Given the description of an element on the screen output the (x, y) to click on. 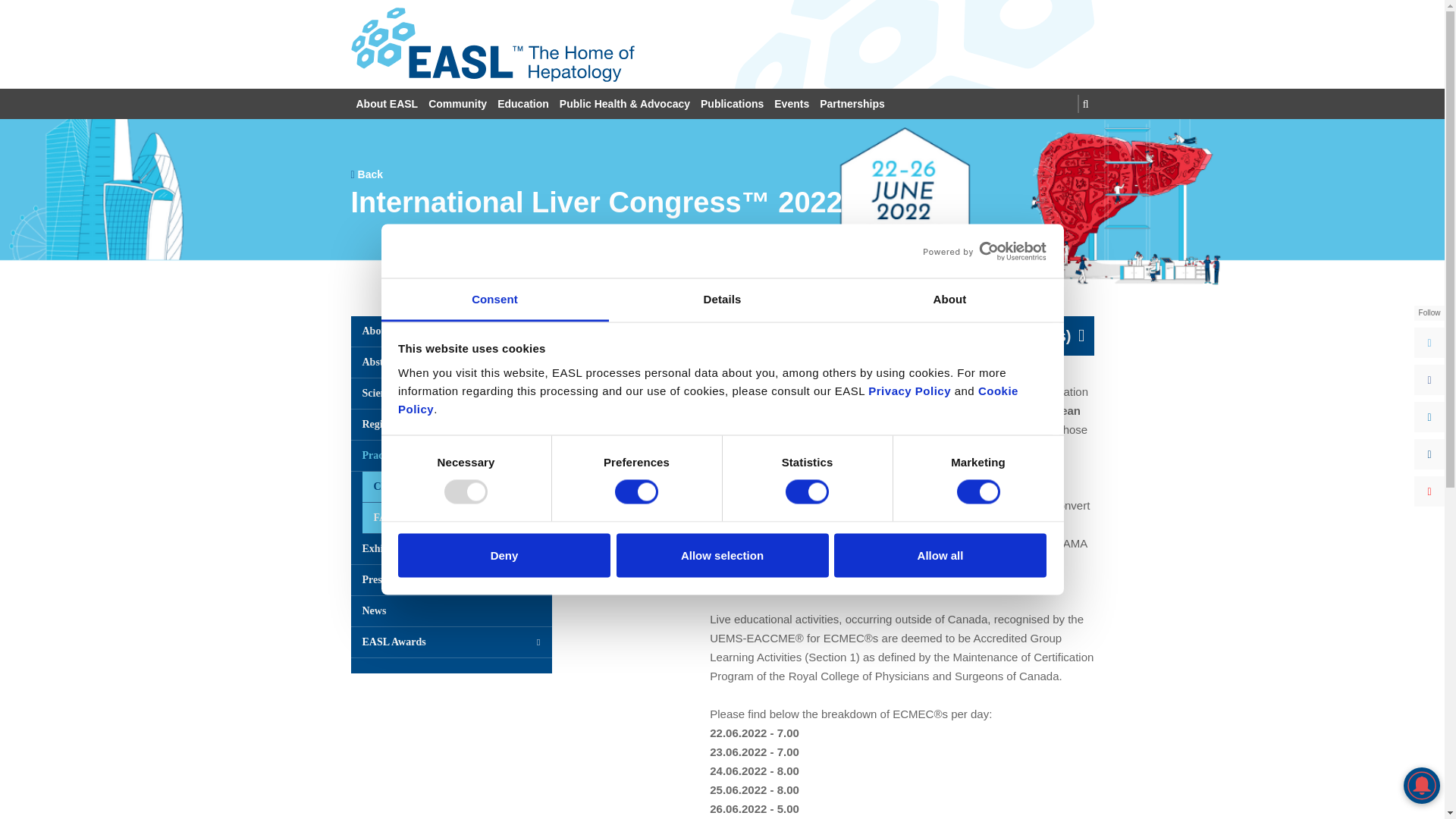
Cookie Policy (707, 399)
Privacy Policy (908, 390)
Consent (494, 299)
About (948, 299)
Details (721, 299)
